Given the description of an element on the screen output the (x, y) to click on. 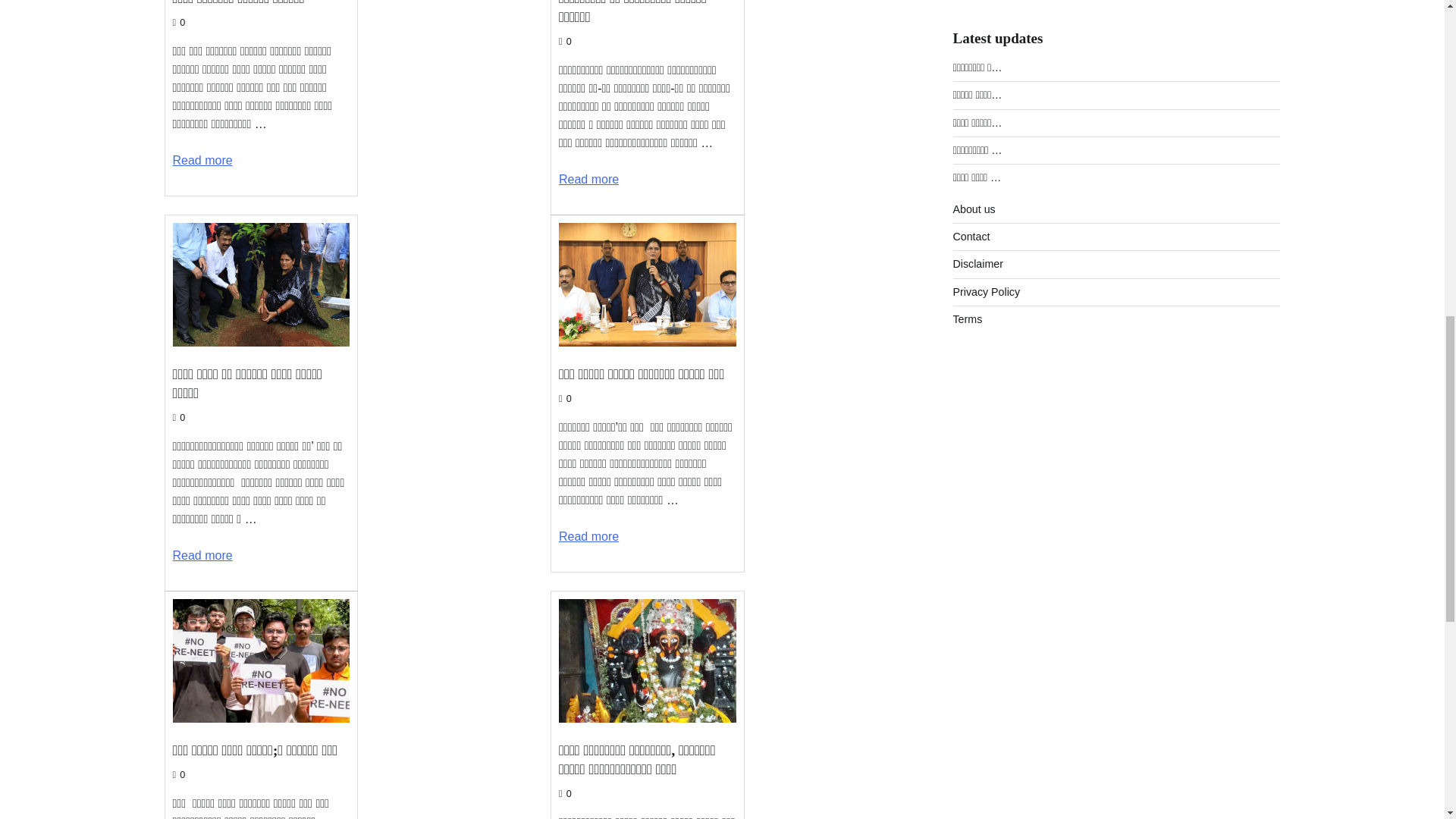
Read more (588, 178)
Read more (202, 160)
